Given the description of an element on the screen output the (x, y) to click on. 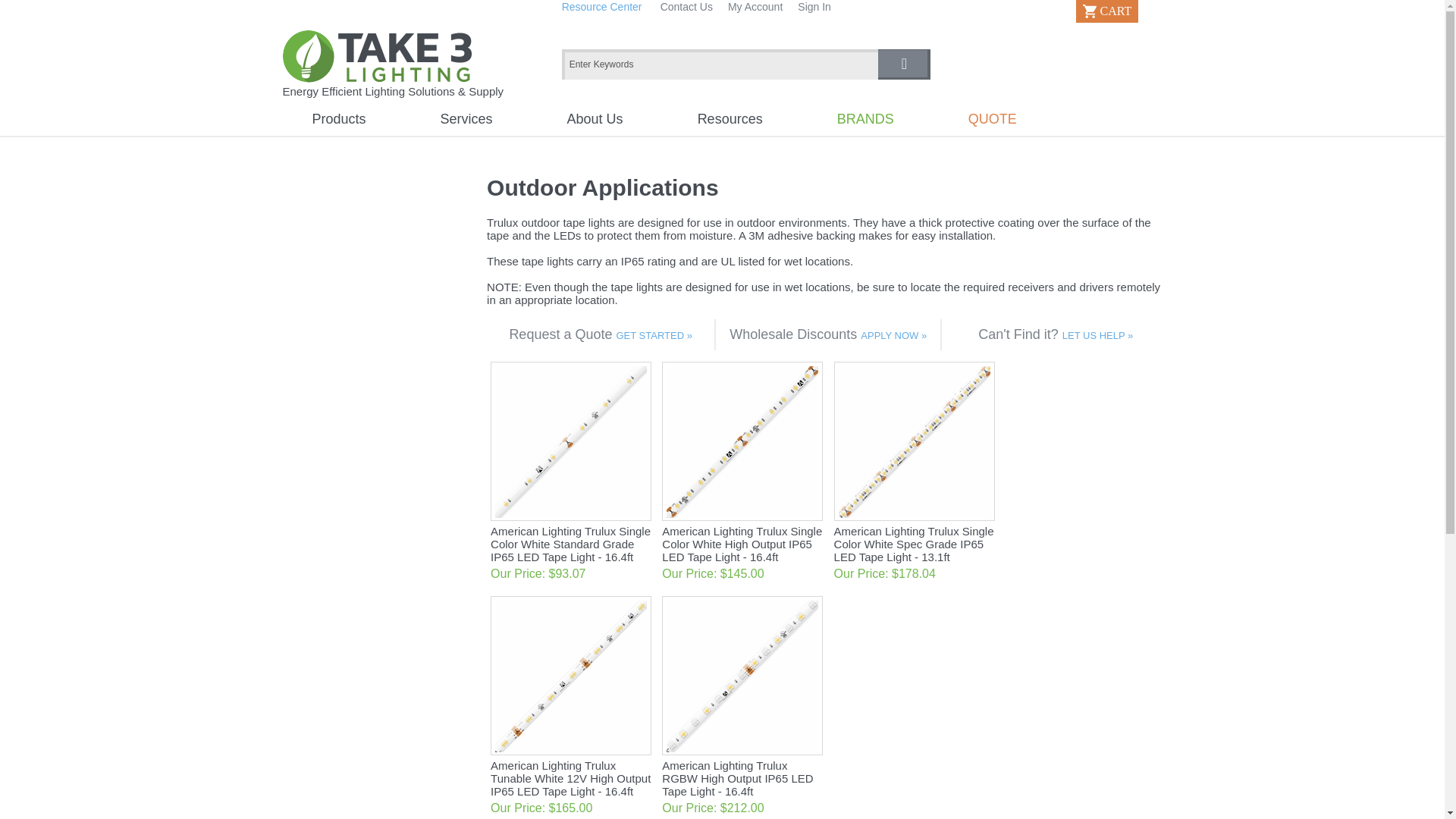
Take 3 Lighting (376, 56)
My Account (755, 6)
Sign In (814, 6)
Enter Keywords (719, 64)
Contact Us (687, 6)
Resource Center (602, 6)
Products (339, 118)
CART (1106, 11)
